Given the description of an element on the screen output the (x, y) to click on. 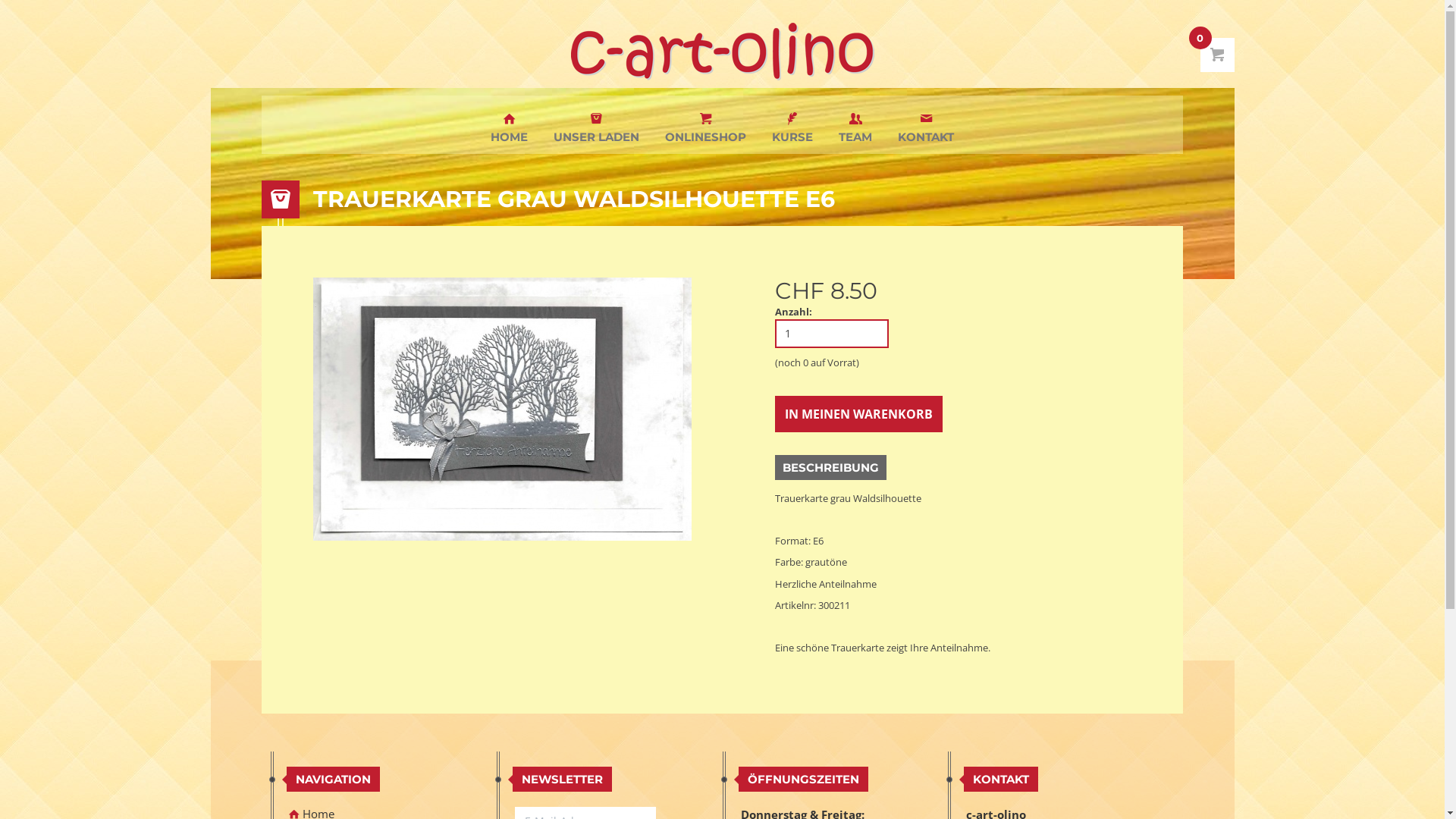
c-art-olino | ebnat-kappel Element type: hover (722, 51)
in meinen Warenkorb Element type: text (858, 413)
